Given the description of an element on the screen output the (x, y) to click on. 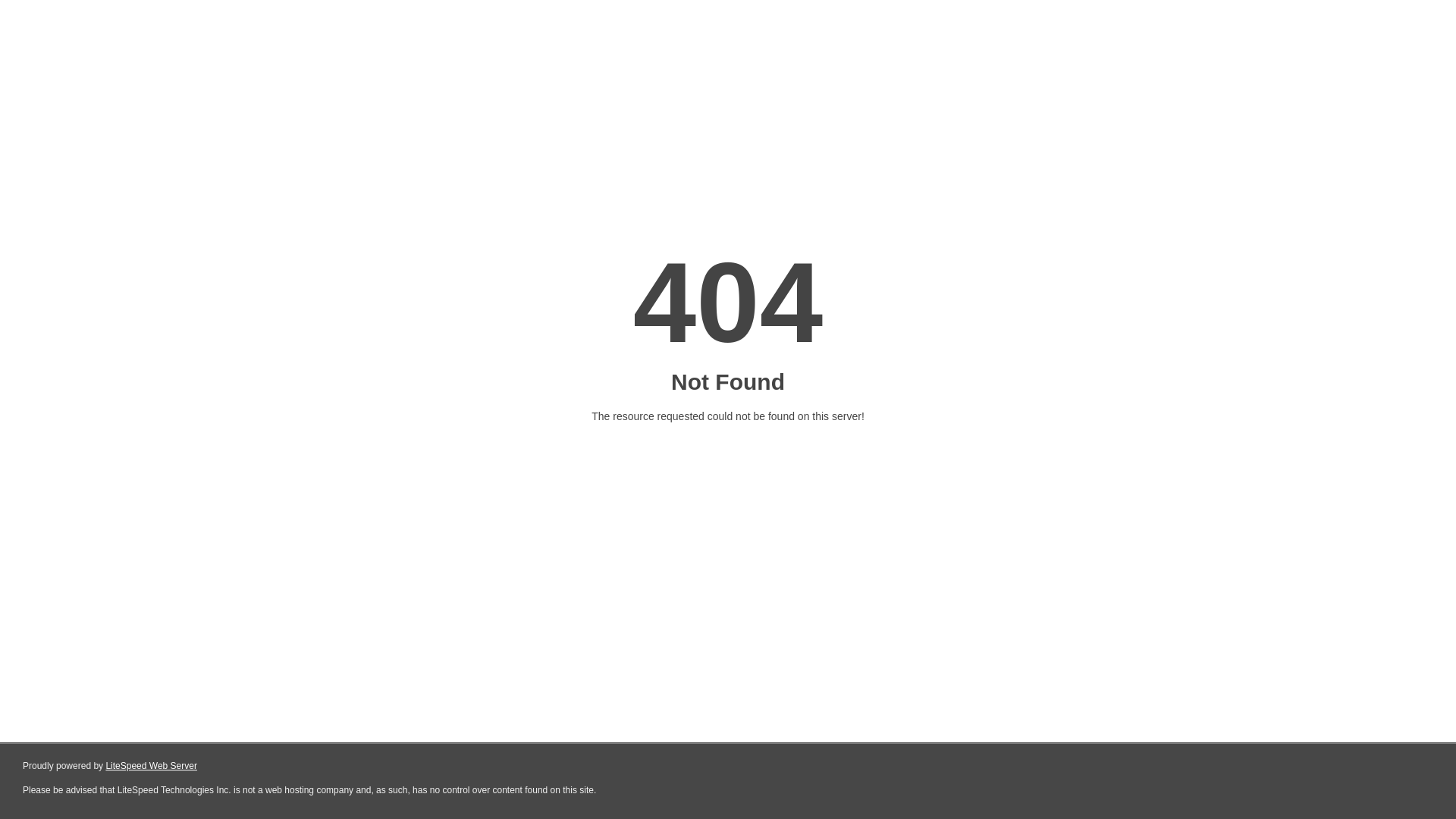
LiteSpeed Web Server Element type: text (151, 765)
